Given the description of an element on the screen output the (x, y) to click on. 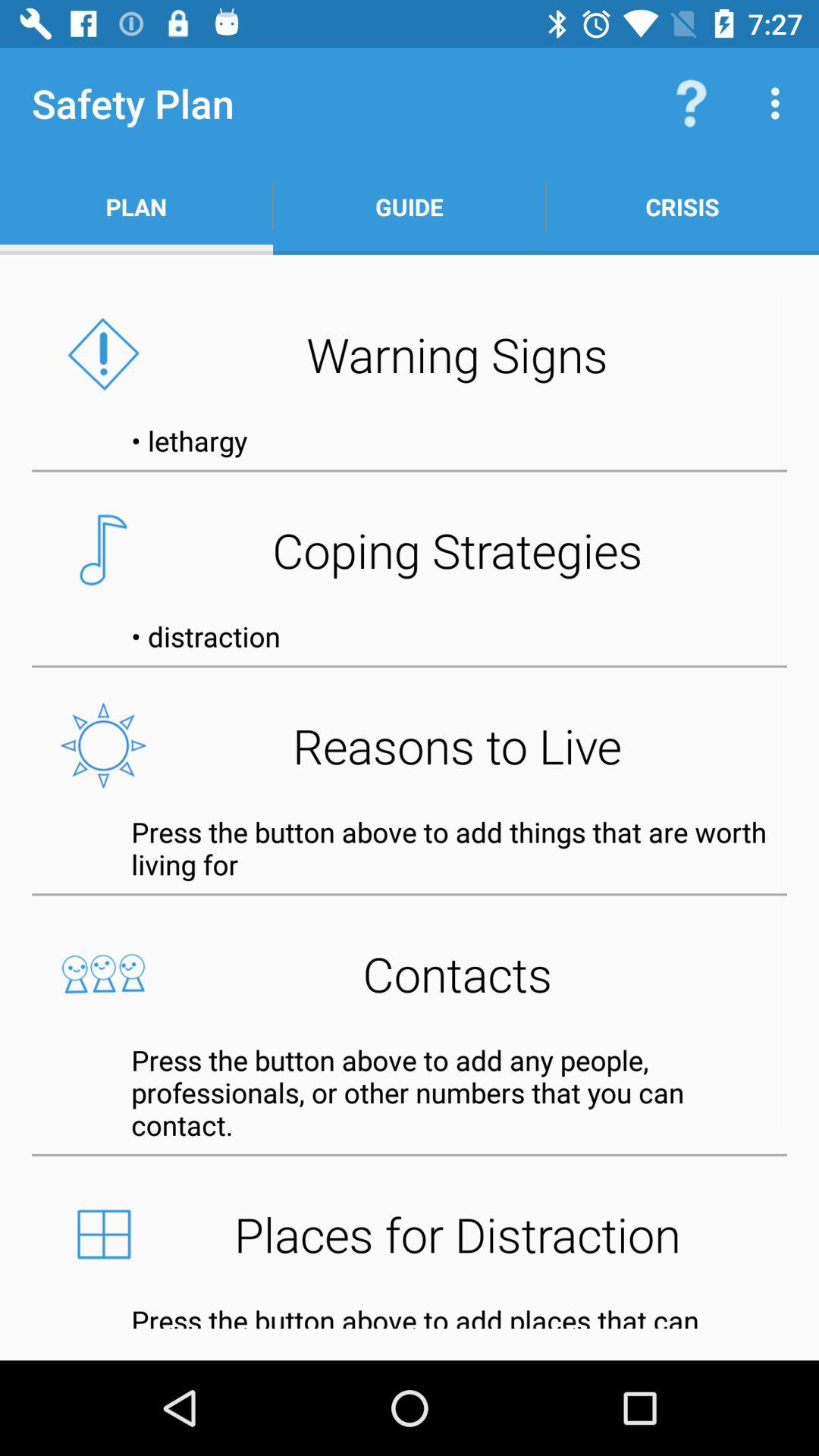
swipe to guide app (409, 206)
